Given the description of an element on the screen output the (x, y) to click on. 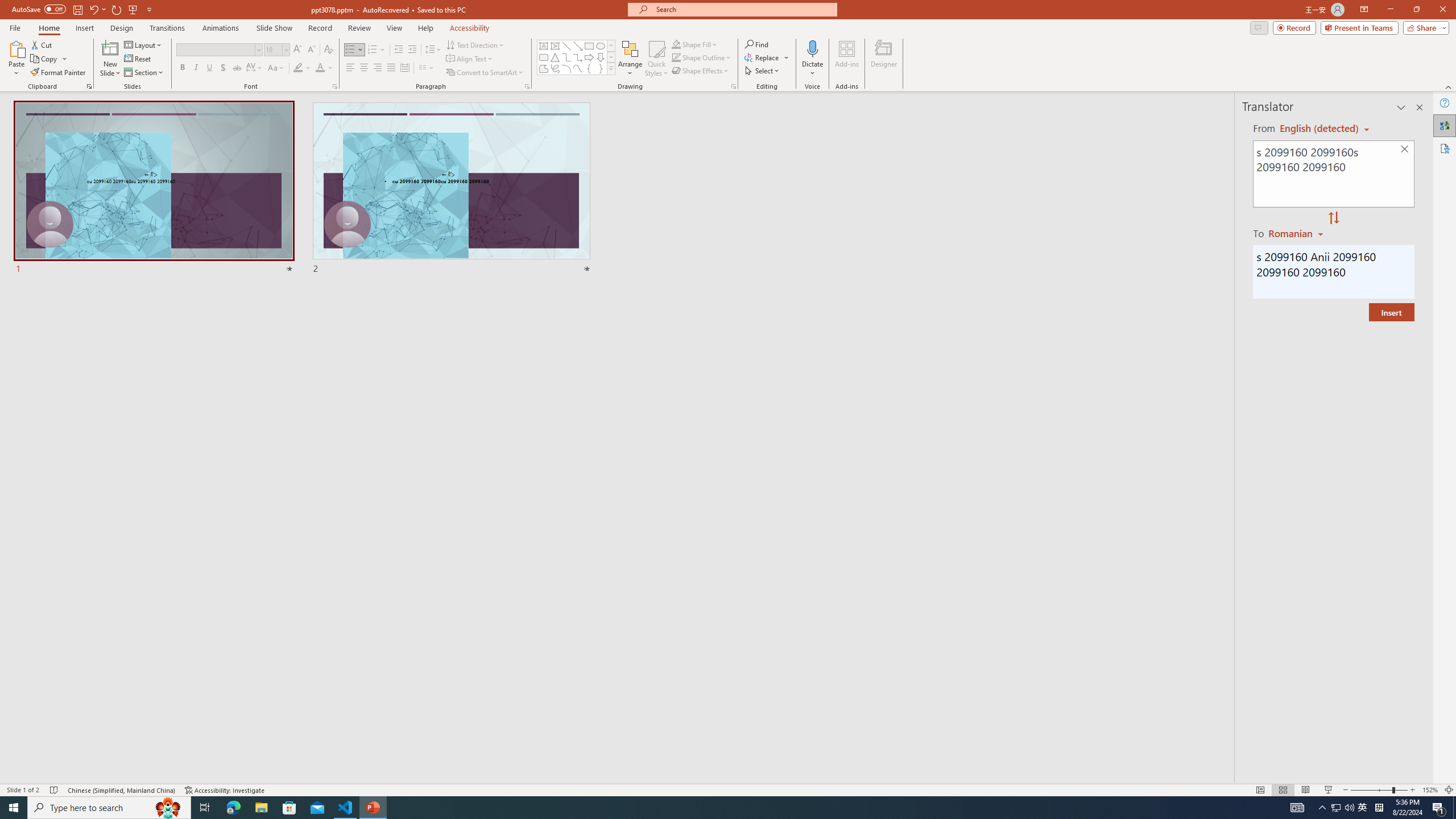
Line Spacing (433, 49)
Character Spacing (254, 67)
Center (363, 67)
Zoom 152% (1430, 790)
Find... (756, 44)
Change Case (276, 67)
Distributed (404, 67)
